Given the description of an element on the screen output the (x, y) to click on. 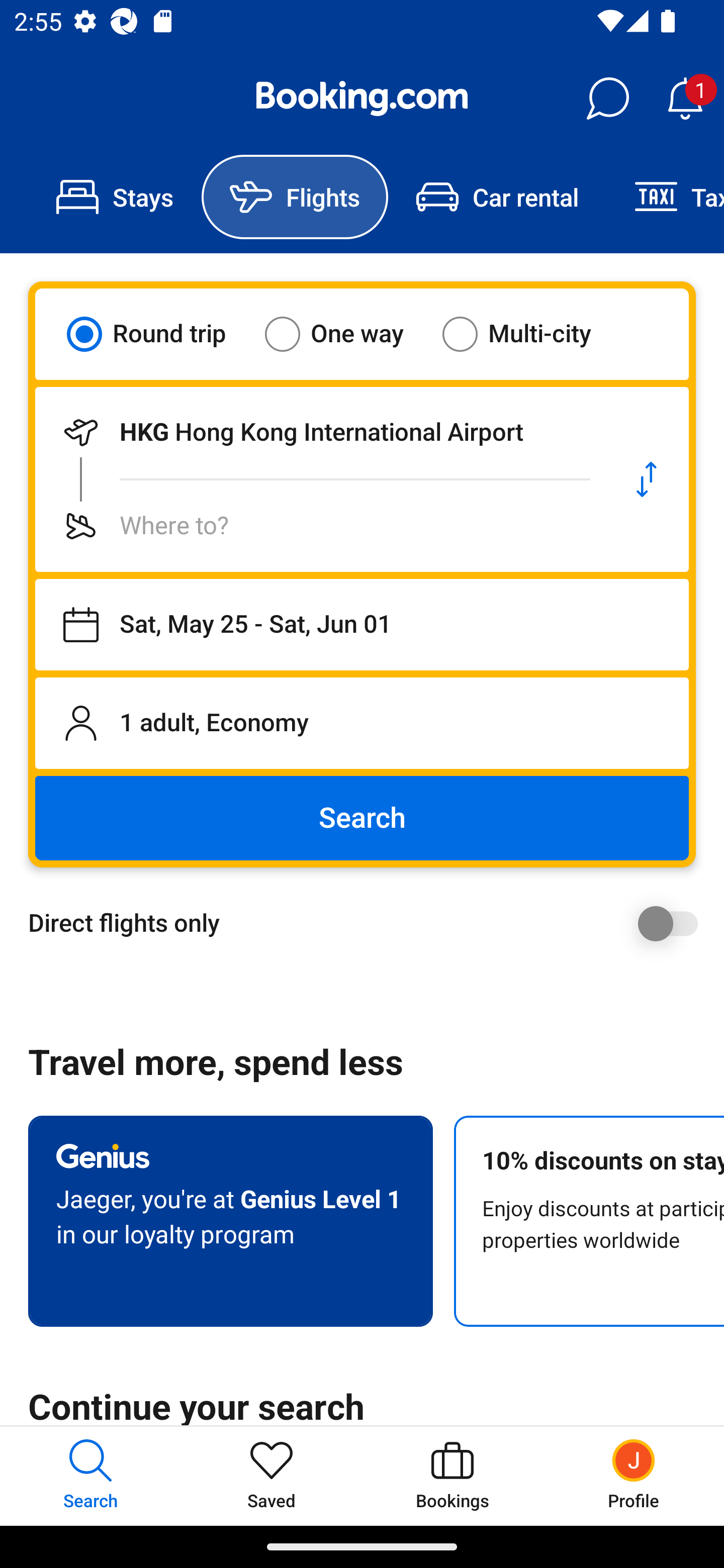
Messages (607, 98)
Notifications (685, 98)
Stays (114, 197)
Flights (294, 197)
Car rental (497, 197)
Taxi (665, 197)
One way (346, 333)
Multi-city (528, 333)
Departing from HKG Hong Kong International Airport (319, 432)
Swap departure location and destination (646, 479)
Flying to  (319, 525)
Departing on Sat, May 25, returning on Sat, Jun 01 (361, 624)
1 adult, Economy (361, 722)
Search (361, 818)
Direct flights only (369, 923)
Saved (271, 1475)
Bookings (452, 1475)
Profile (633, 1475)
